Given the description of an element on the screen output the (x, y) to click on. 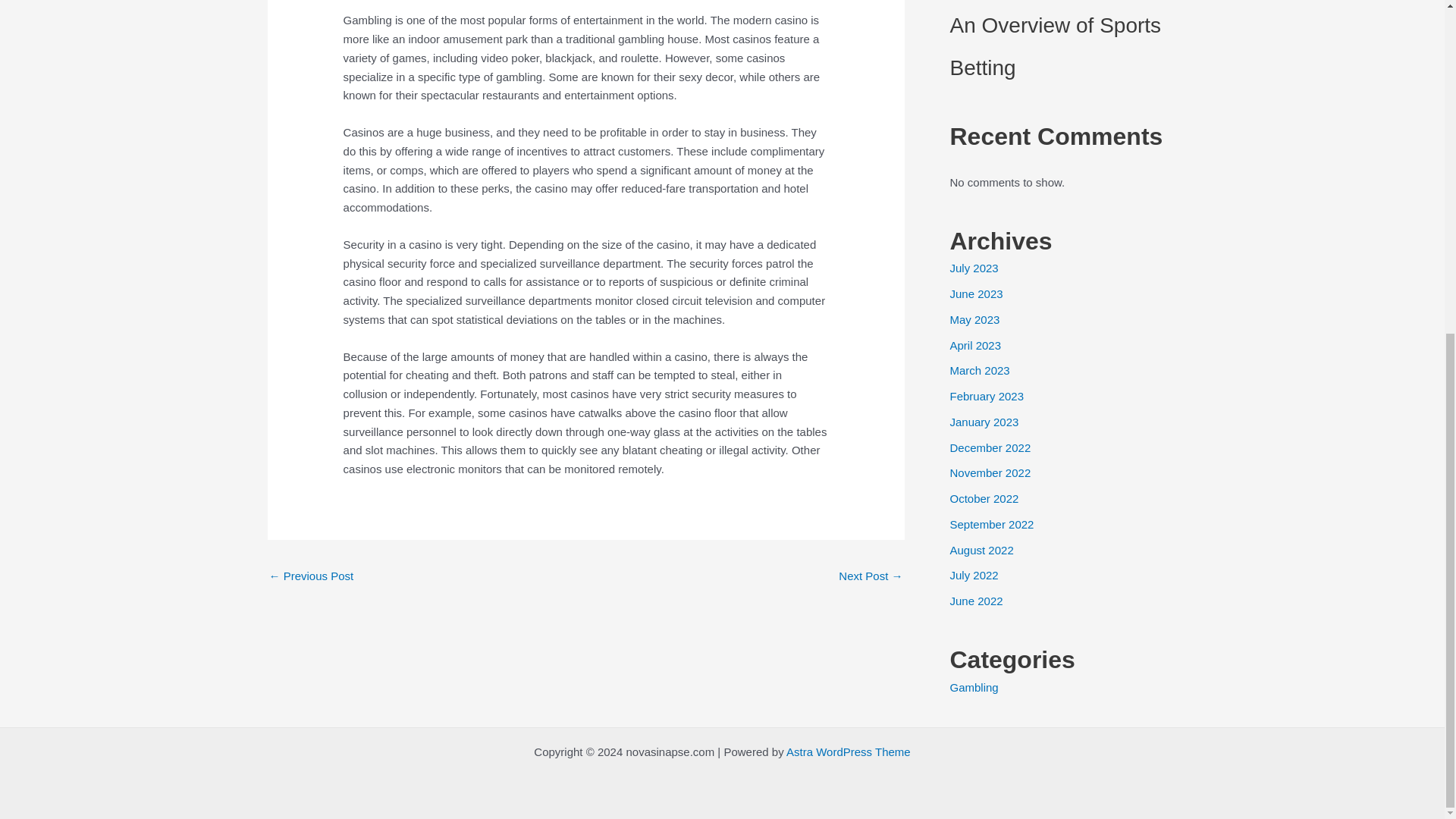
Gambling (973, 686)
January 2023 (983, 421)
March 2023 (979, 369)
May 2023 (973, 318)
July 2022 (973, 574)
An Overview of Sports Betting (1054, 46)
Astra WordPress Theme (848, 751)
August 2022 (981, 549)
September 2022 (991, 523)
June 2022 (976, 600)
